Given the description of an element on the screen output the (x, y) to click on. 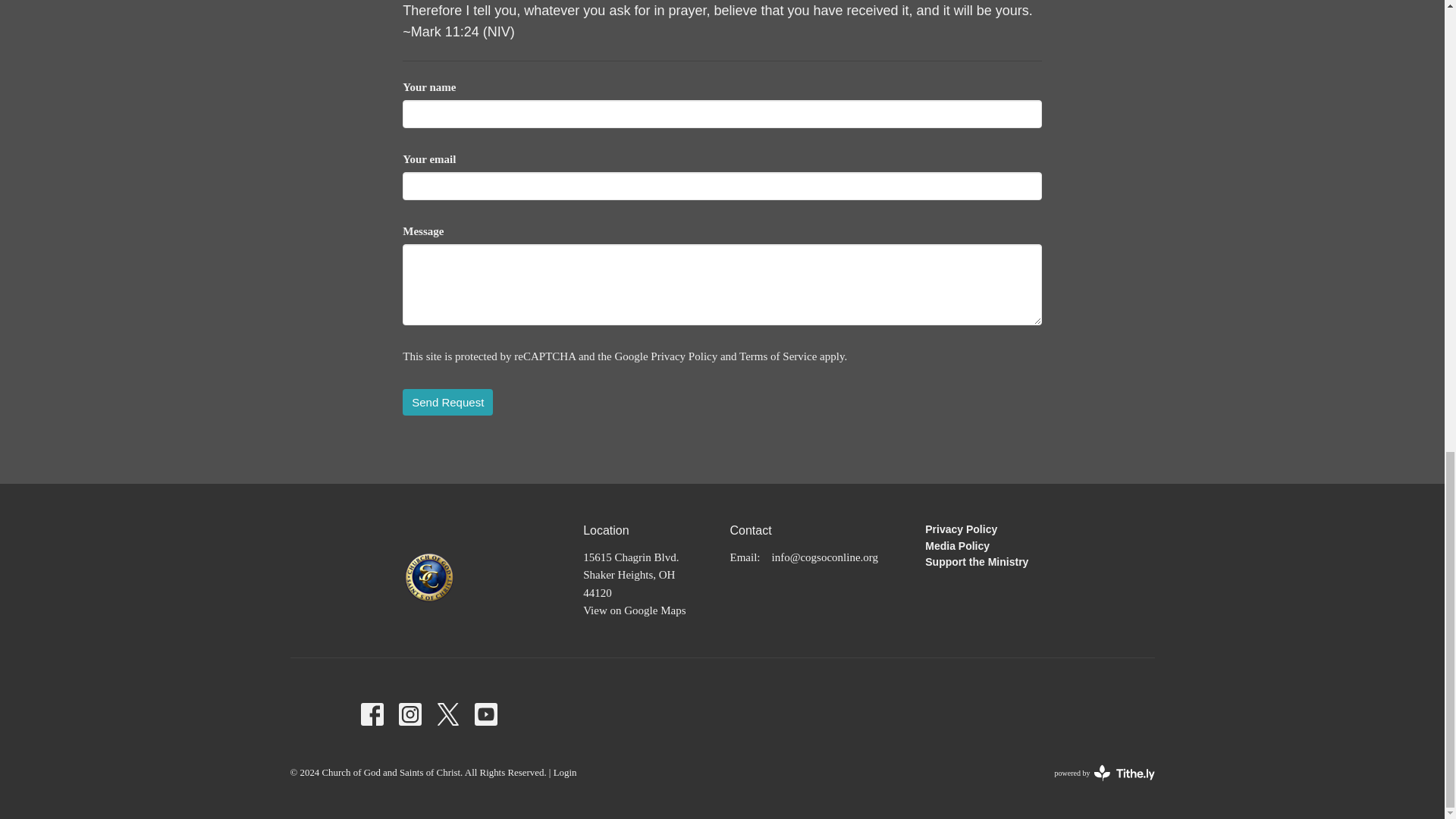
Privacy Policy (960, 529)
Send Request (448, 402)
View on Google Maps (634, 610)
Send Request (448, 402)
Privacy Policy (683, 356)
Terms of Service (777, 356)
translation missing: en.ui.email (743, 557)
